Given the description of an element on the screen output the (x, y) to click on. 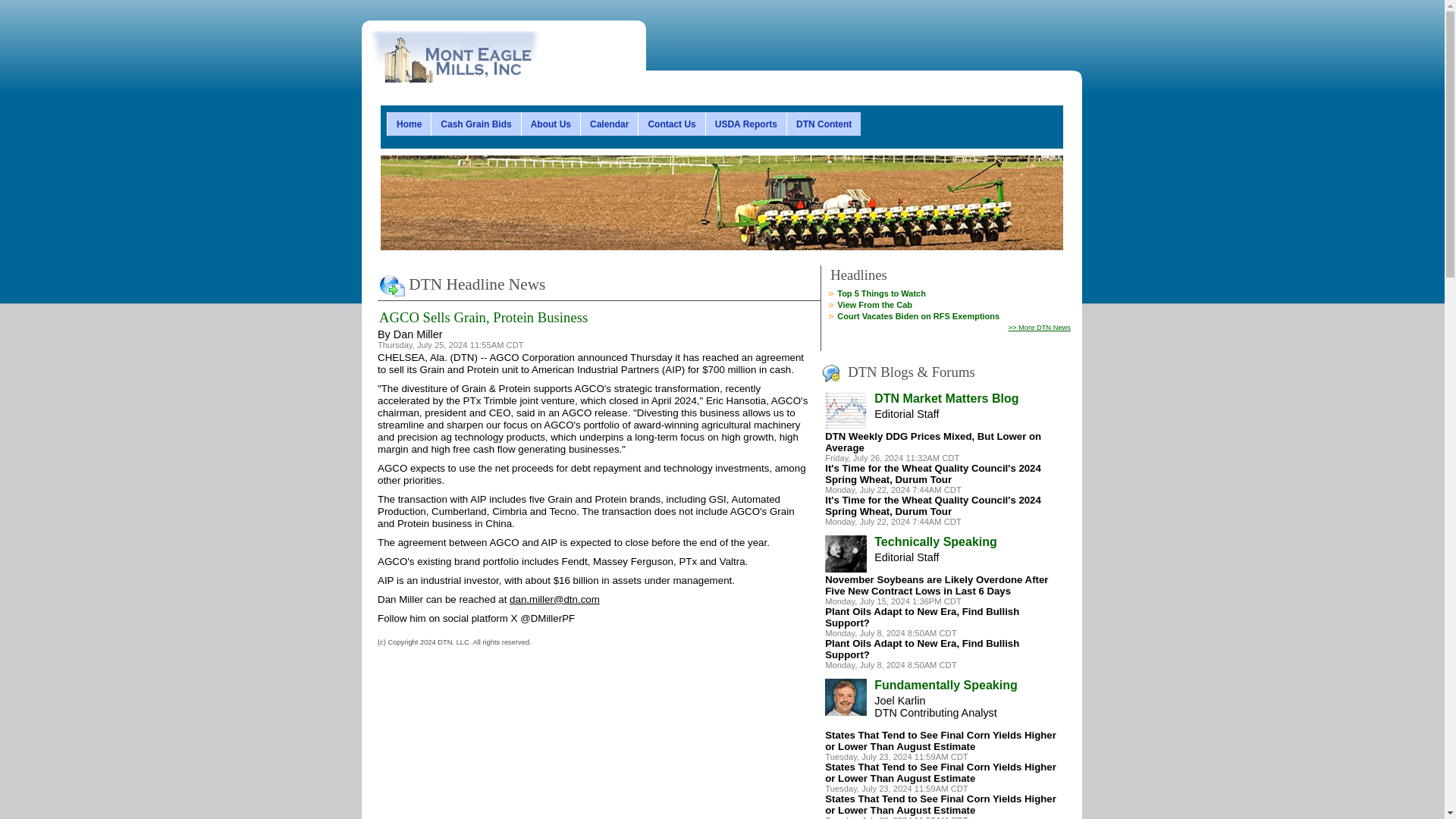
Calendar (608, 124)
View From the Cab (874, 304)
DTN Market Matters Blog (946, 398)
Technically Speaking (936, 541)
DTN Weekly DDG Prices Mixed, But Lower on Average (933, 441)
About Us (550, 124)
Home (408, 124)
Cash Grain Bids (474, 124)
Top 5 Things to Watch (881, 293)
Plant Oils Adapt to New Era, Find Bullish Support? (922, 617)
Fundamentally Speaking (945, 684)
